Given the description of an element on the screen output the (x, y) to click on. 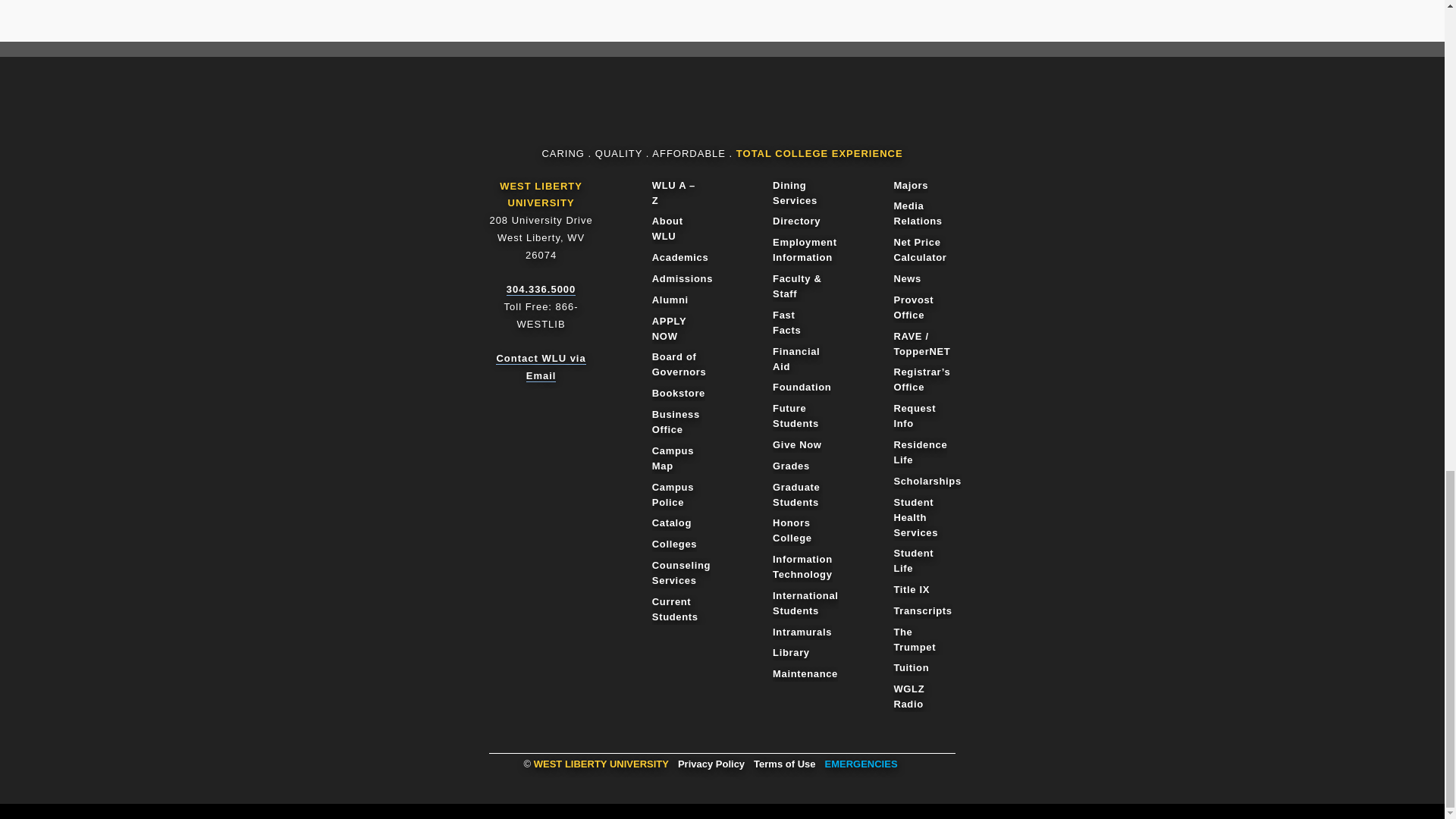
Contact WLU via Email (540, 367)
WEST LIBERTY UNIVERSITY (540, 194)
304.336.5000 (541, 289)
Alumni (670, 299)
WLU (716, 112)
Academics (680, 257)
Admissions (682, 278)
About WLU (676, 228)
